Given the description of an element on the screen output the (x, y) to click on. 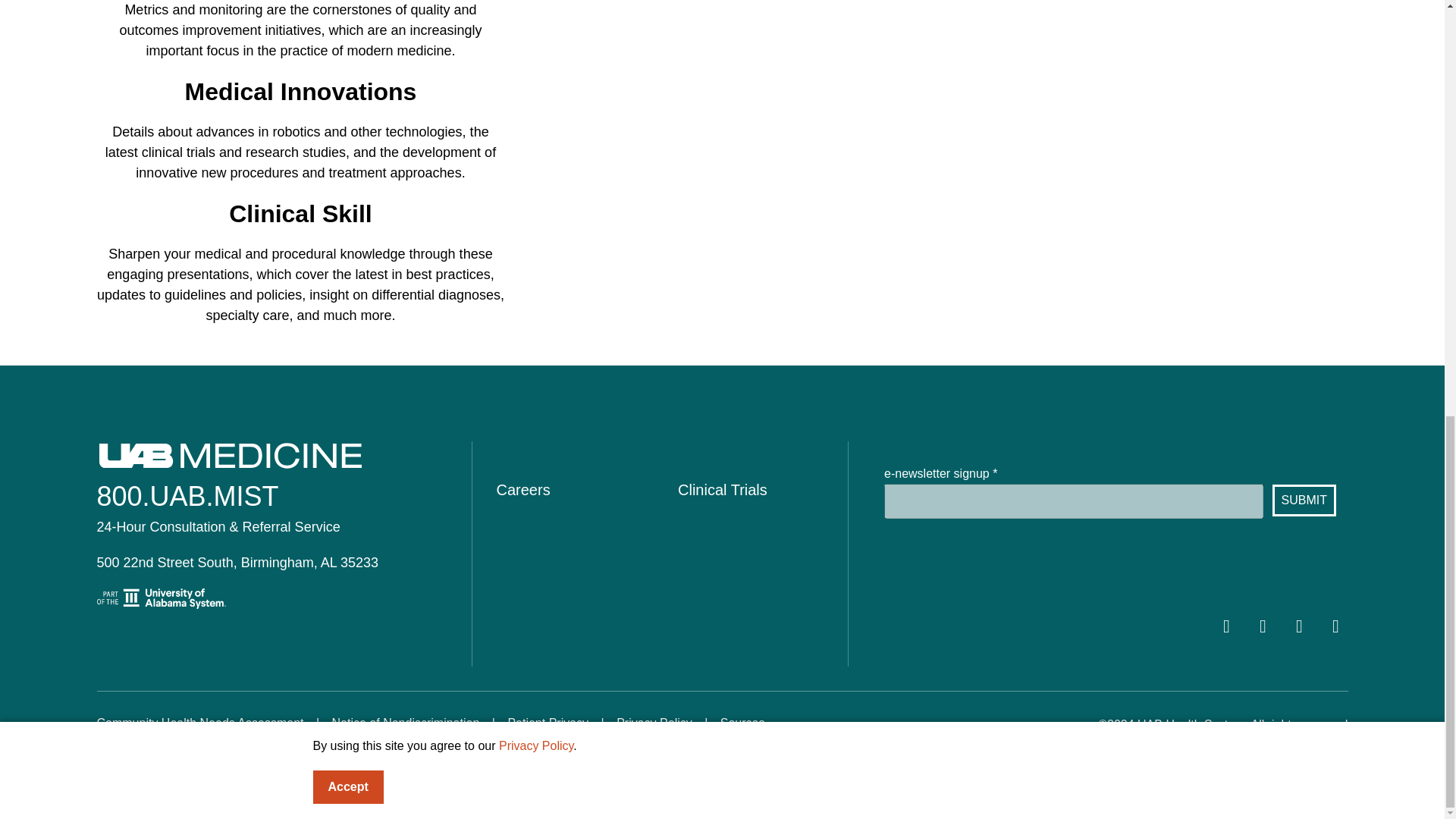
Instagram (1335, 626)
Sources (742, 722)
Twitter (1262, 626)
800.UAB.MIST (188, 495)
Health Podcast Player (940, 18)
Community Health Needs Assessment (200, 722)
Notice of Nondiscrimination (405, 722)
Patient Privacy (547, 722)
Clinical Trials (722, 489)
Privacy Policy (654, 722)
Careers (523, 489)
YouTube (1299, 626)
Facebook (1226, 626)
